Given the description of an element on the screen output the (x, y) to click on. 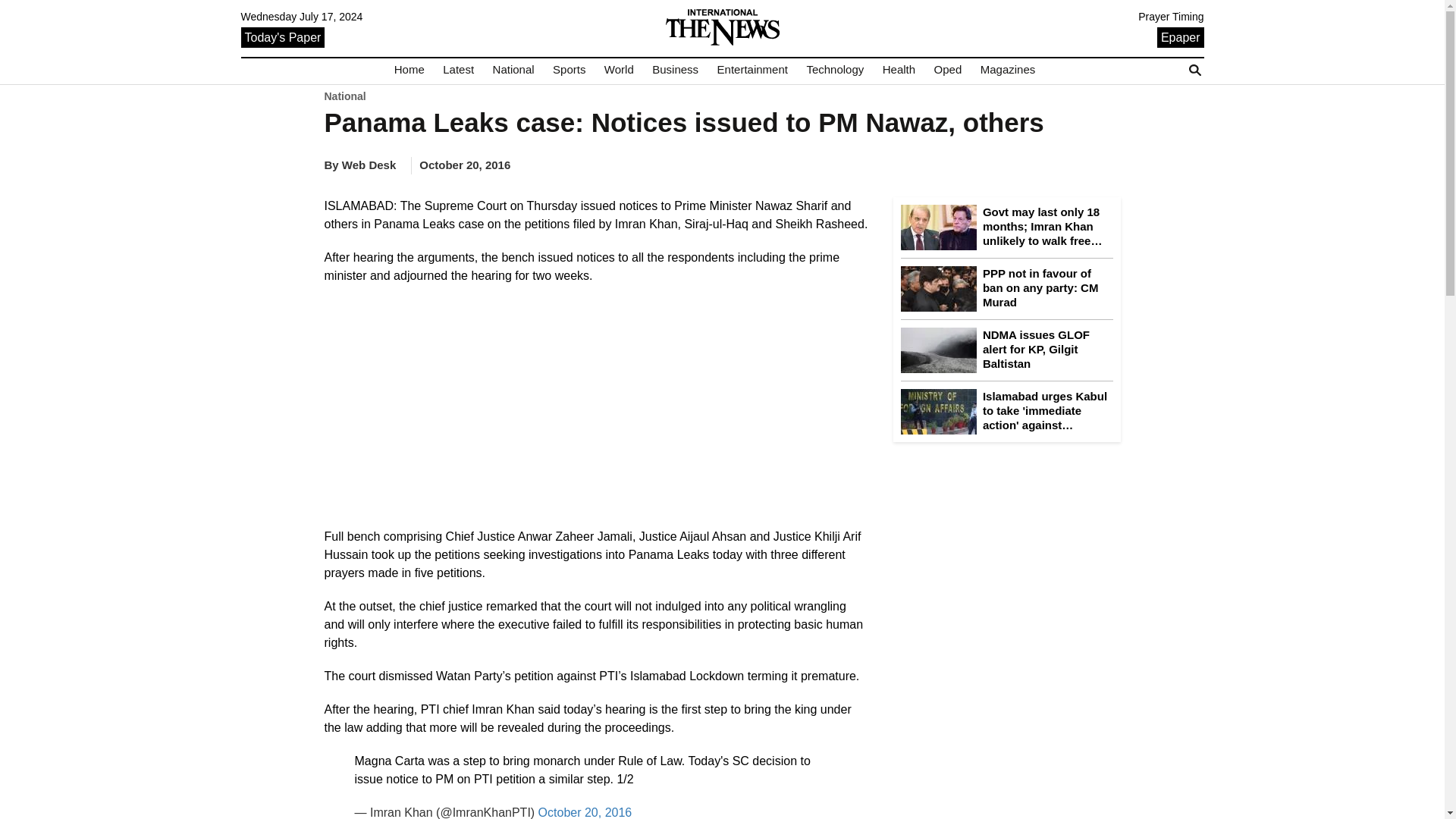
Prayer Timing (1171, 16)
Entertainment (752, 69)
Health (899, 69)
Business (675, 69)
Today's Paper (282, 37)
Technology (833, 69)
World (619, 69)
Sports (568, 69)
Home (409, 69)
Latest (458, 69)
Epaper (1180, 37)
National (512, 69)
